Given the description of an element on the screen output the (x, y) to click on. 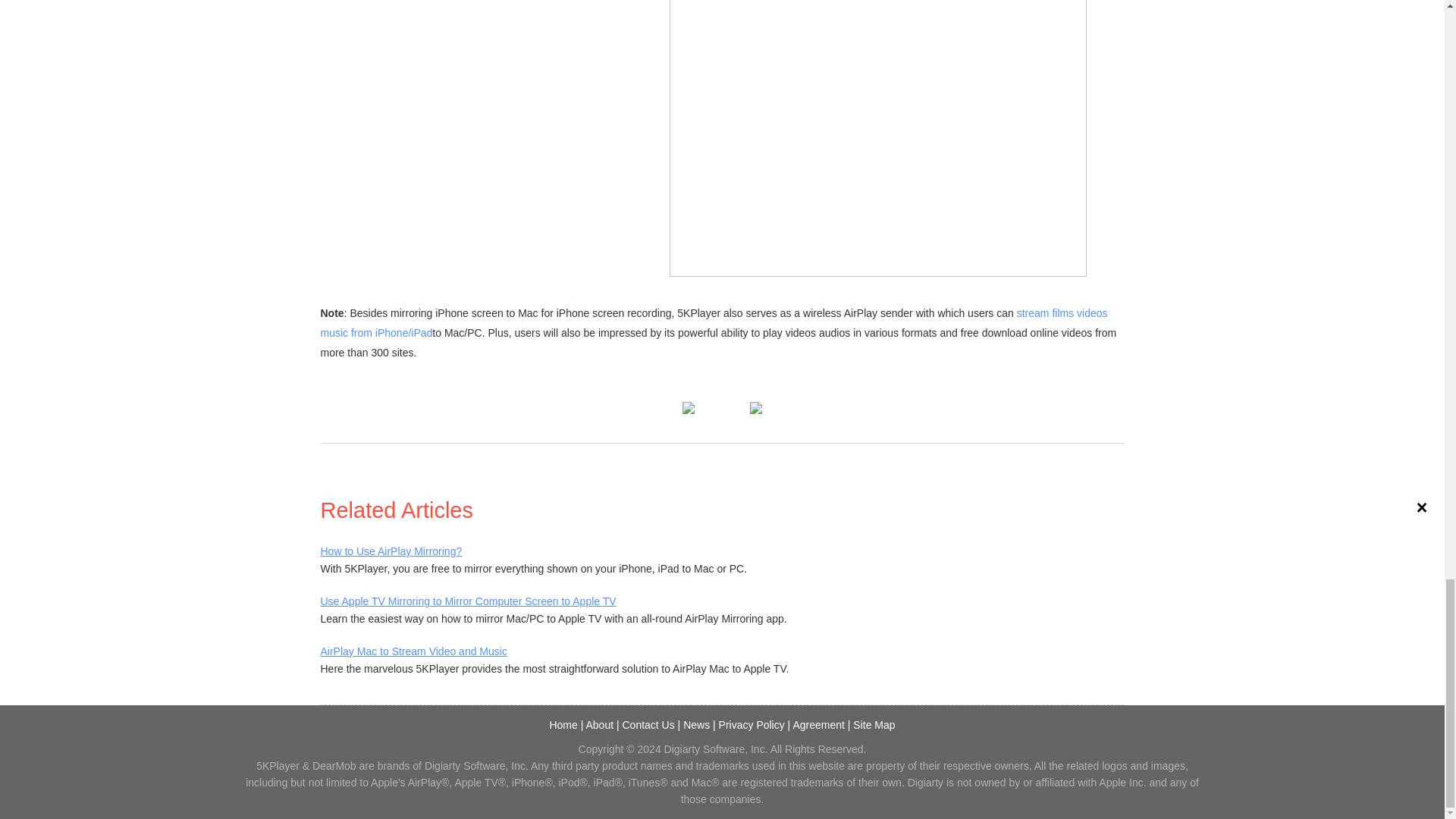
News (696, 725)
Home (562, 725)
Agreement (818, 725)
Contact Us (647, 725)
Site Map (874, 725)
About (598, 725)
Privacy Policy (751, 725)
Use Apple TV Mirroring to Mirror Computer Screen to Apple TV (467, 601)
AirPlay Mac to Stream Video and Music (413, 651)
How to Use AirPlay Mirroring? (390, 551)
